Given the description of an element on the screen output the (x, y) to click on. 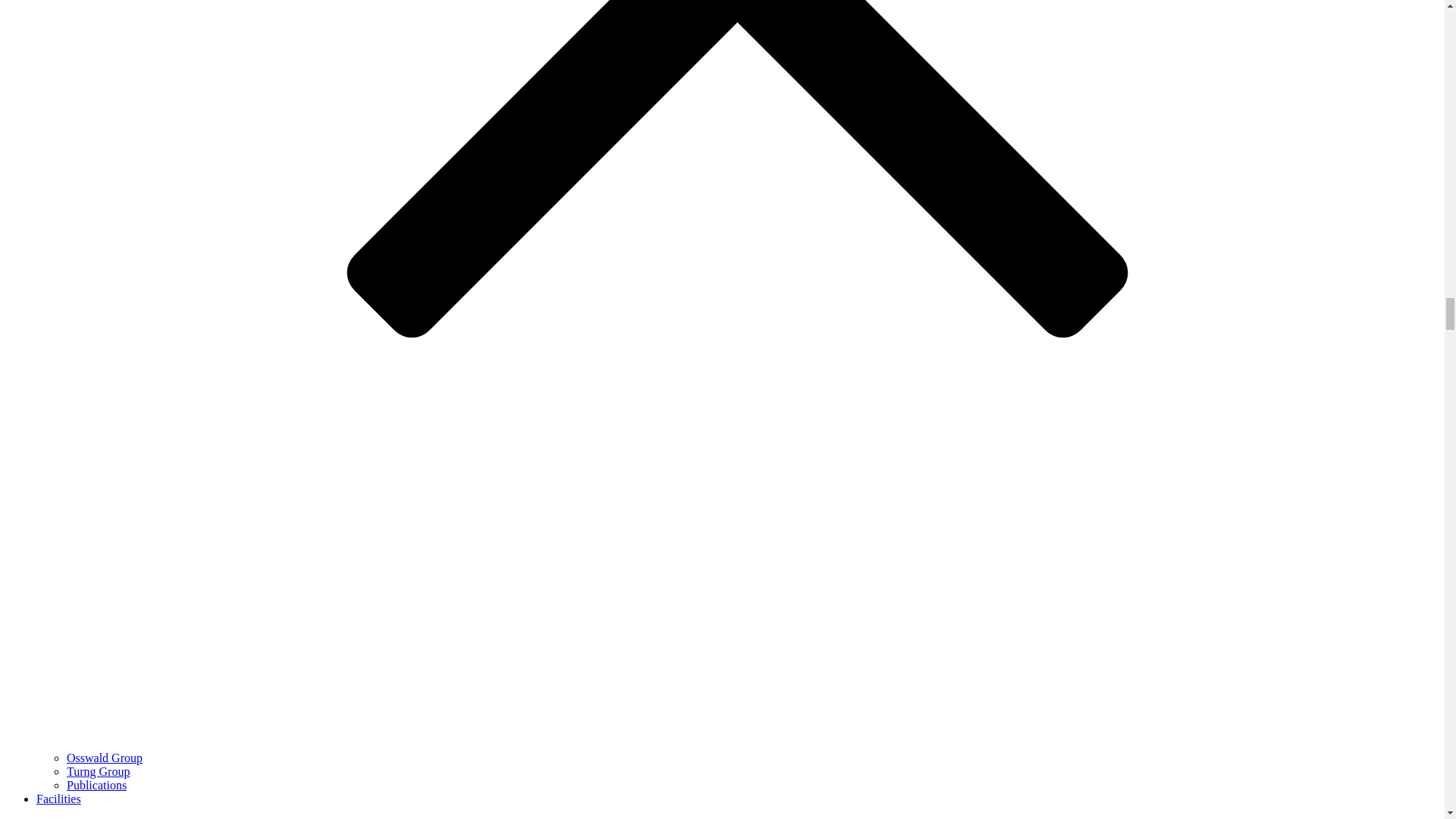
Turng Group (97, 771)
Osswald Group (104, 757)
Publications (96, 784)
